Given the description of an element on the screen output the (x, y) to click on. 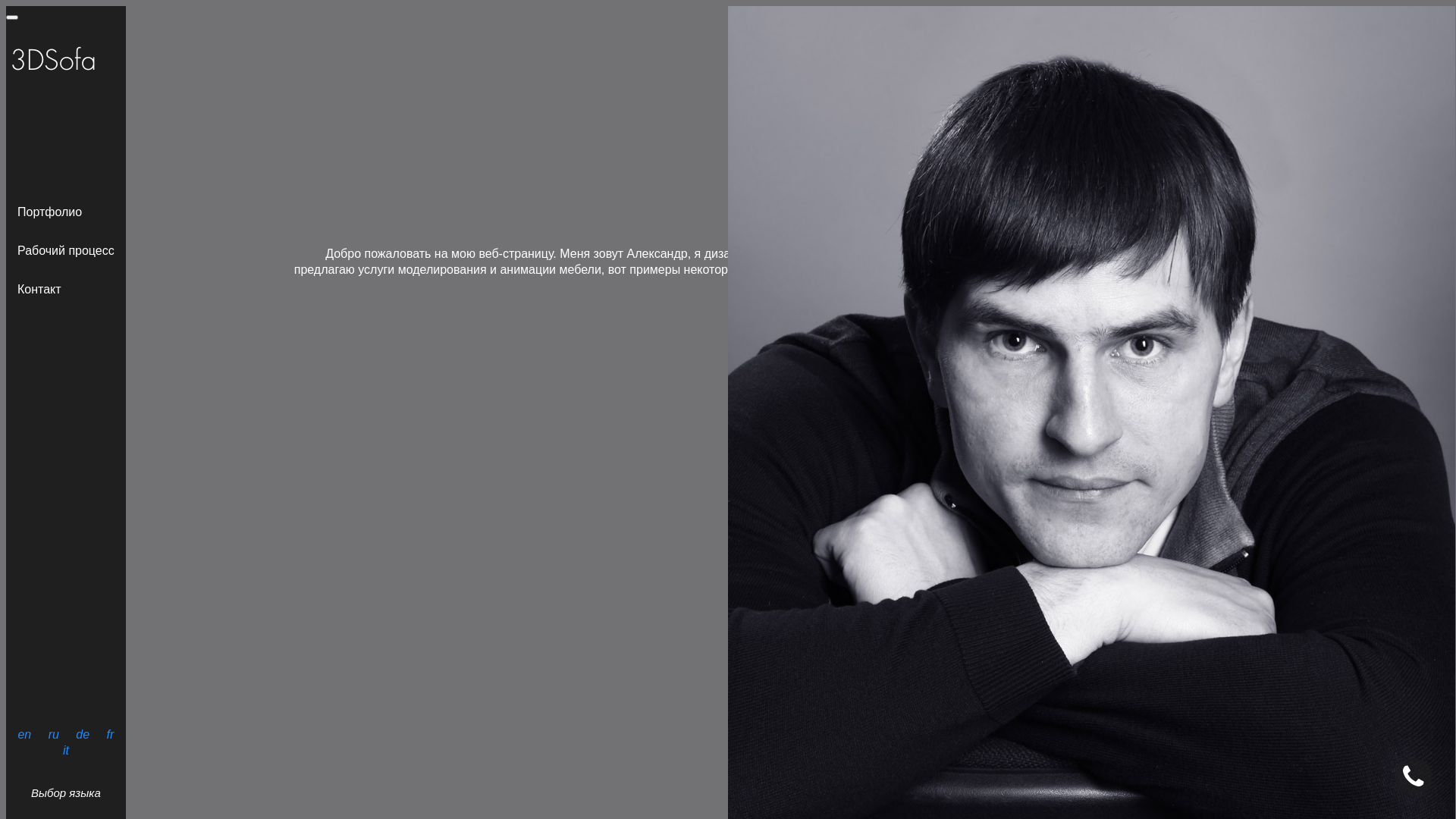
it Element type: text (65, 749)
3DSofa Element type: text (12, 17)
Call me back Element type: text (746, 478)
ru Element type: text (53, 733)
3DSofa Element type: text (53, 62)
fr Element type: text (110, 733)
en Element type: text (24, 733)
de Element type: text (82, 733)
